Given the description of an element on the screen output the (x, y) to click on. 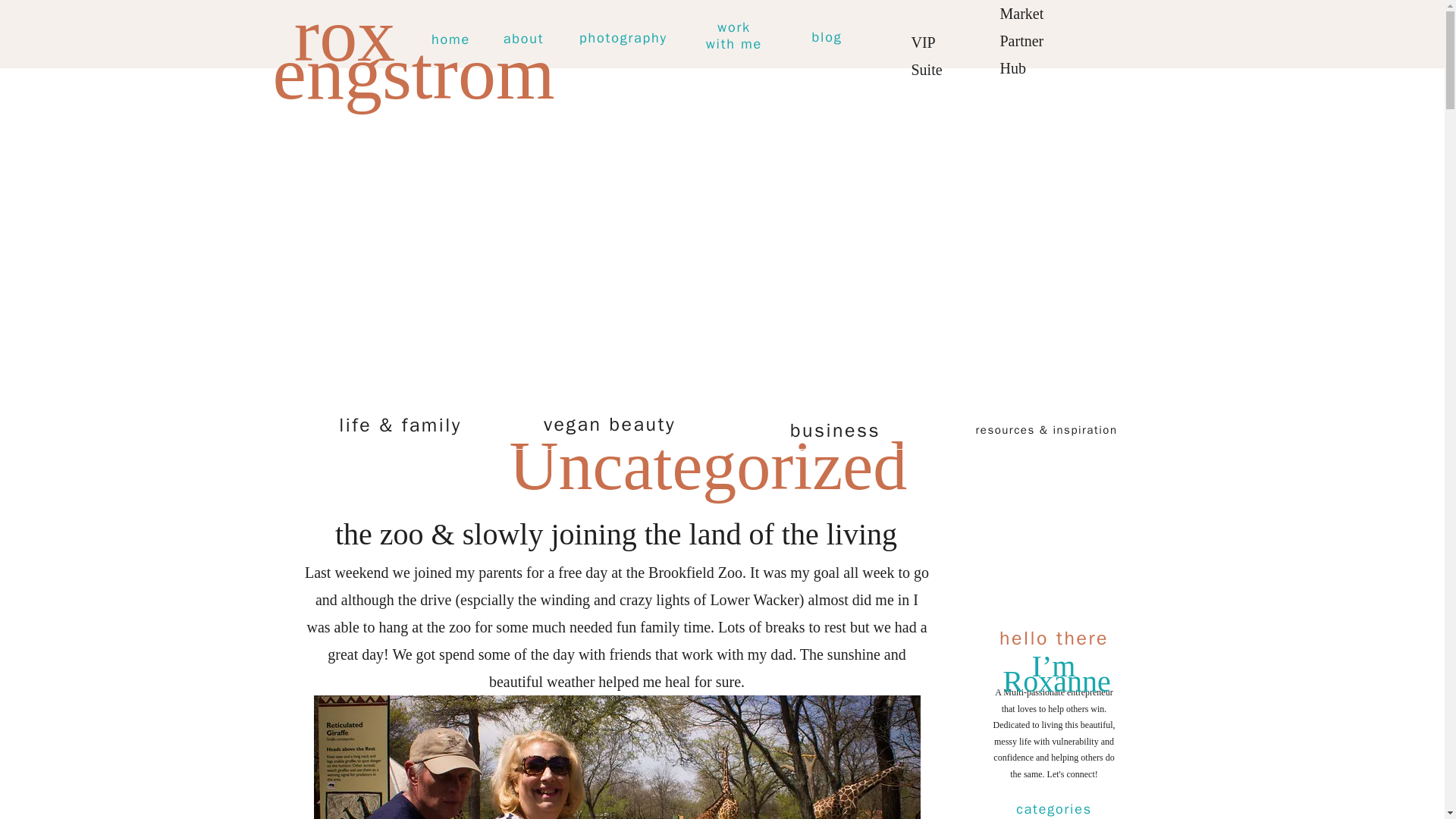
Market Partner Hub (1032, 33)
VIP Suite (936, 37)
vegan beauty (608, 423)
about (524, 39)
home (450, 39)
let's connect (1139, 29)
photography (623, 38)
business (733, 37)
Uncategorized (834, 430)
blog (708, 465)
